Given the description of an element on the screen output the (x, y) to click on. 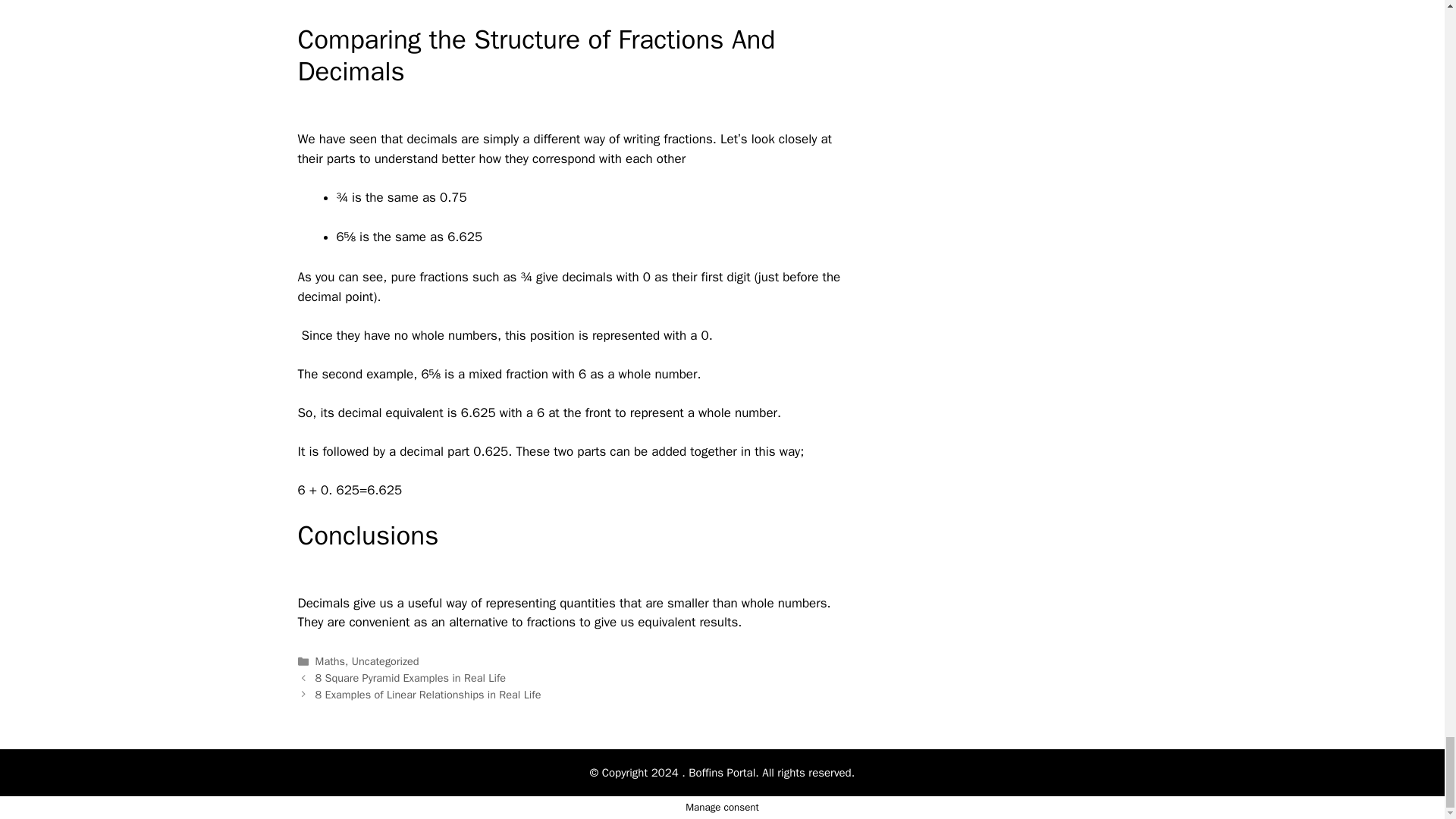
Next (428, 694)
8 Square Pyramid Examples in Real Life (410, 677)
Uncategorized (385, 661)
8 Examples of Linear Relationships in Real Life (428, 694)
Previous (410, 677)
Maths (330, 661)
